Given the description of an element on the screen output the (x, y) to click on. 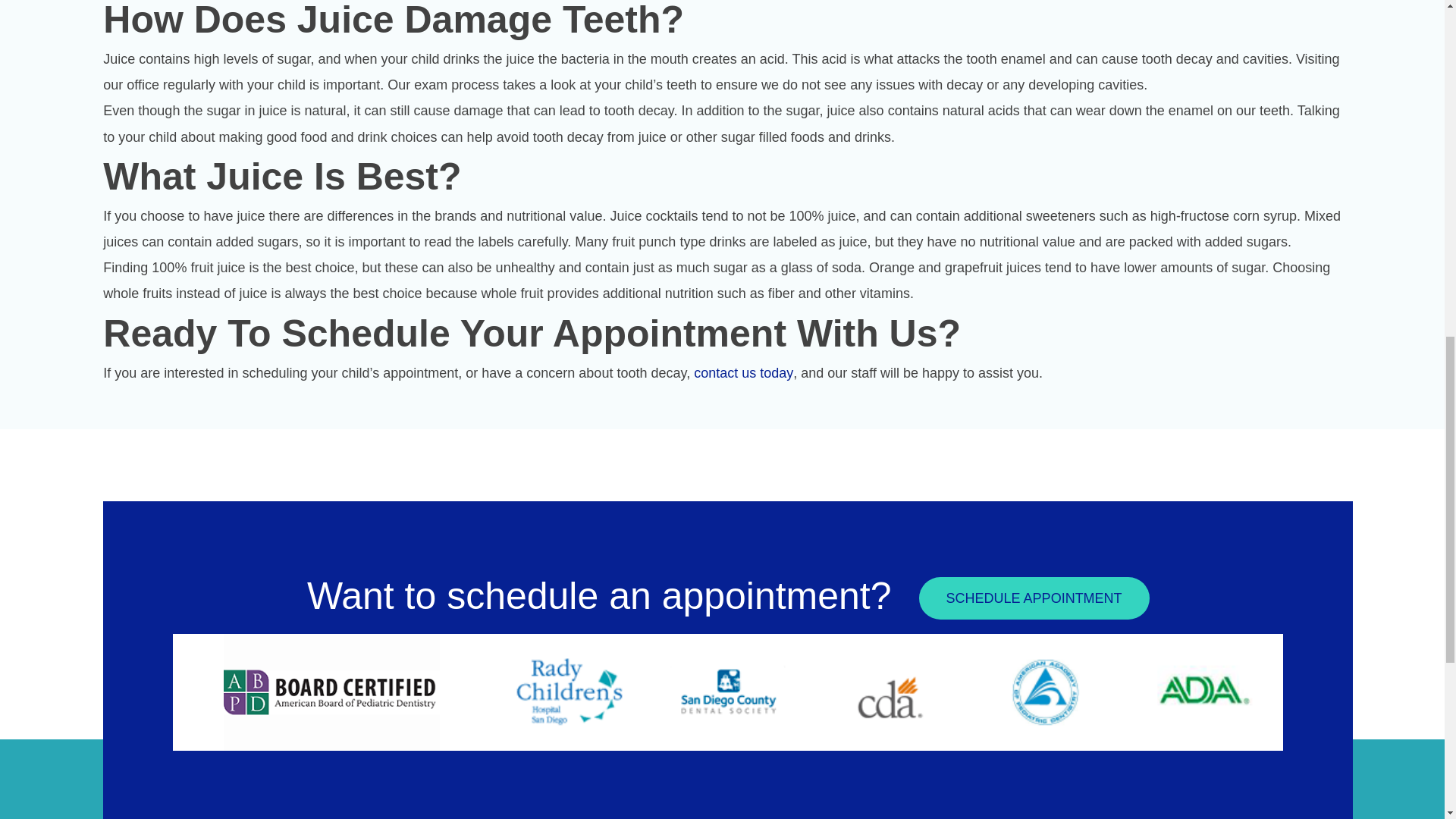
SCHEDULE APPOINTMENT (1034, 598)
contact us today (743, 372)
